Given the description of an element on the screen output the (x, y) to click on. 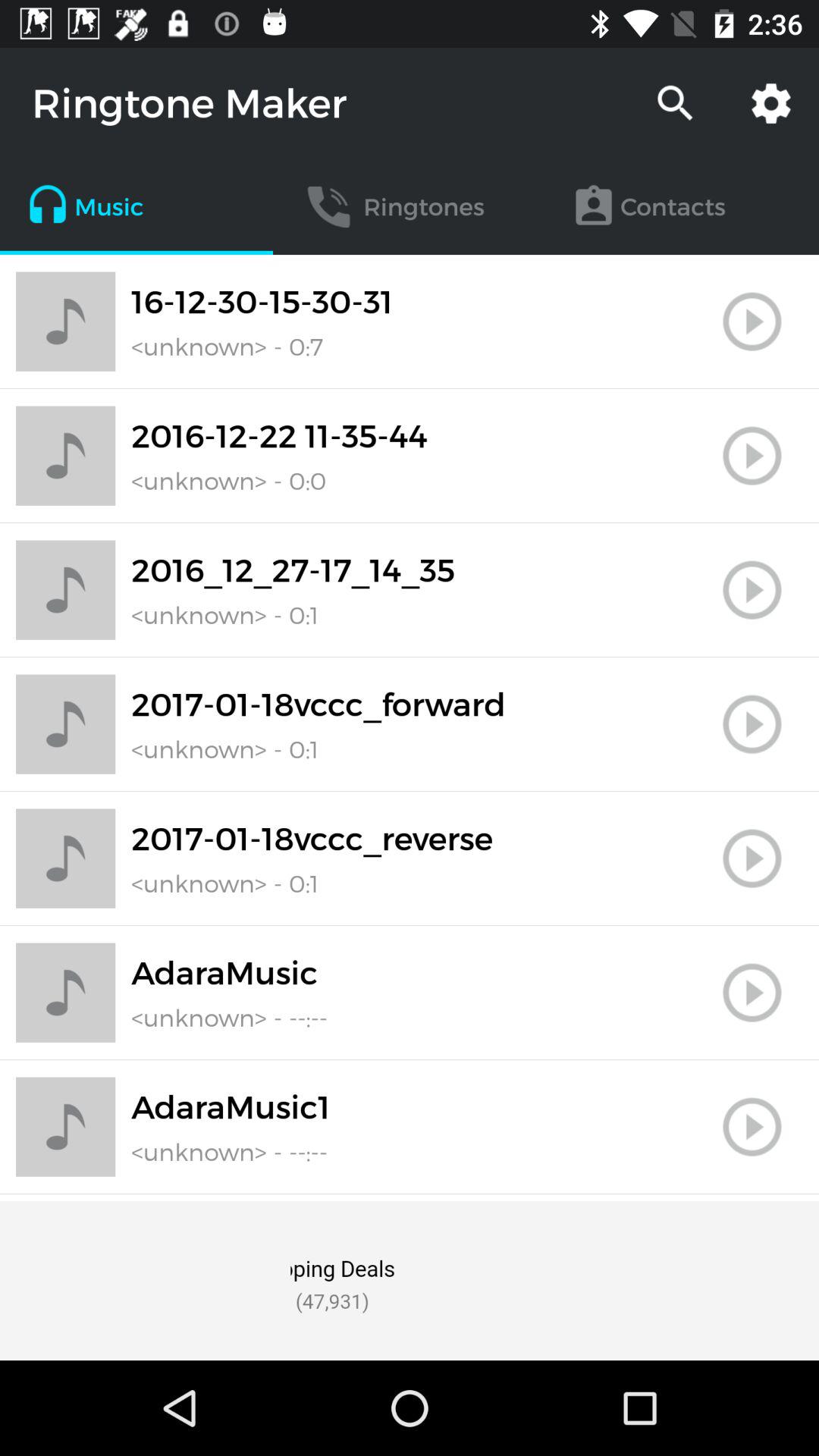
click the play button (752, 590)
